Given the description of an element on the screen output the (x, y) to click on. 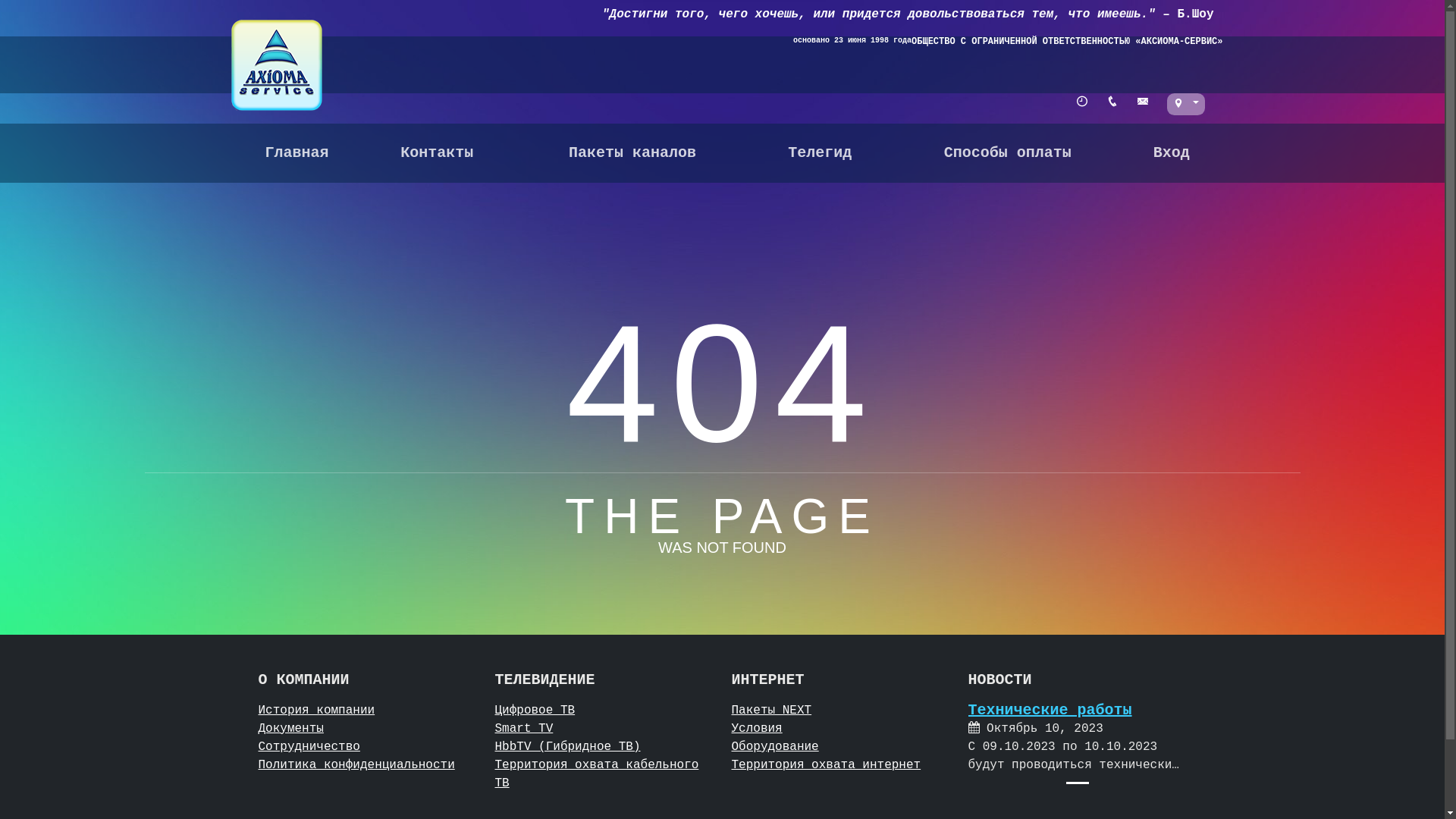
myvz3ns1v9 Element type: text (715, 228)
jxz2gdas5a Element type: text (715, 695)
e2jbole4av Element type: text (715, 652)
stxbf0wgrv Element type: text (715, 185)
9h8t0aeunh Element type: text (715, 610)
6v1gjuamh9 Element type: text (715, 143)
obhrdczusb Element type: text (715, 567)
nt7xgirh68 Element type: text (715, 525)
druzhnyy Element type: text (715, 482)
zaslavl Element type: text (715, 397)
j6rvolkrzd Element type: text (715, 270)
Smart TV Element type: text (523, 728)
bn5ehmsdim Element type: text (715, 440)
nrdr4bzgak Element type: text (715, 737)
minsk Element type: text (715, 100)
ggruifumuw Element type: text (715, 355)
ugvomro8wp Element type: text (715, 312)
